Given the description of an element on the screen output the (x, y) to click on. 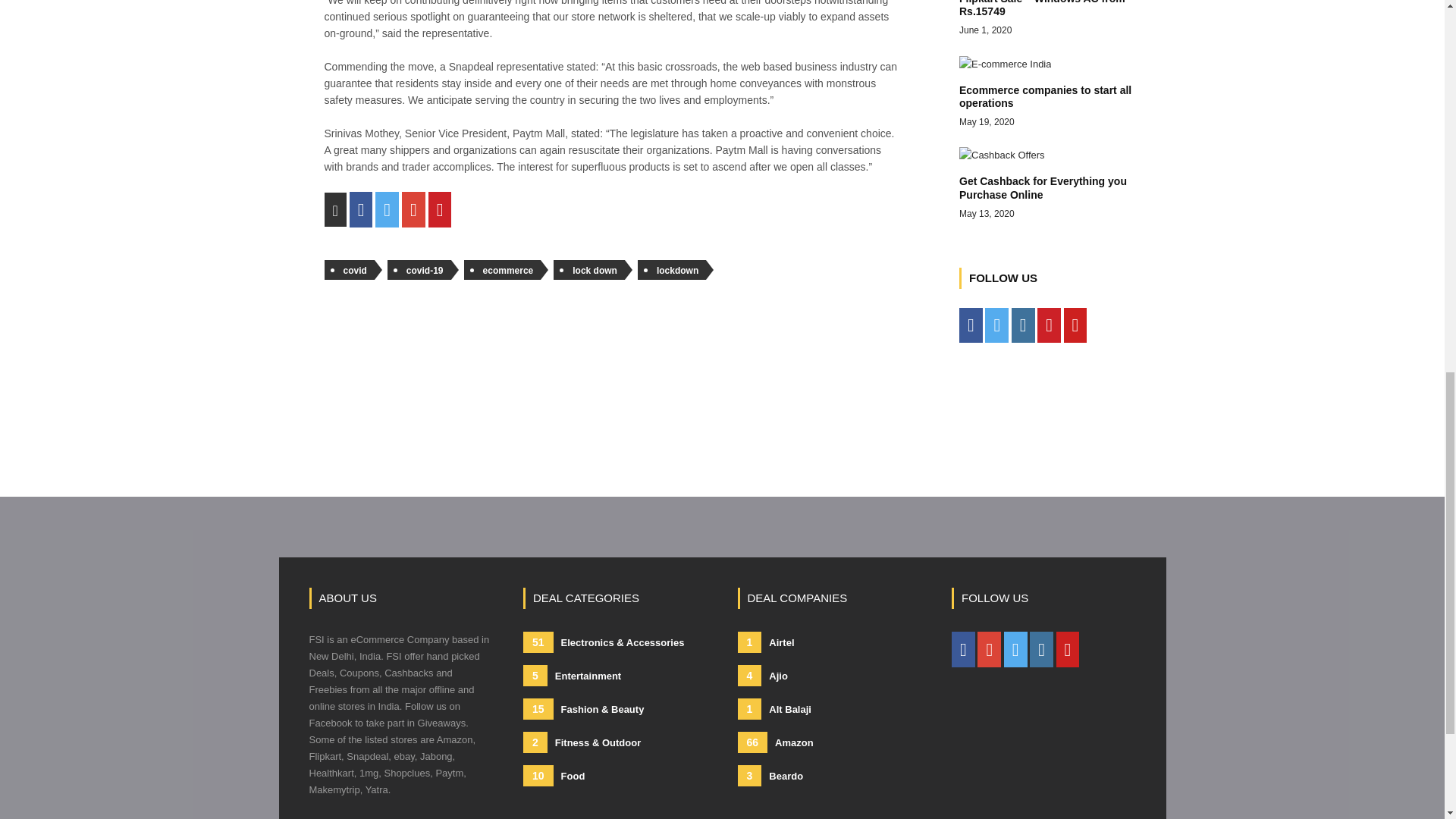
covid (349, 270)
lock down (588, 270)
covid-19 (419, 270)
ecommerce (502, 270)
lockdown (1055, 184)
